Given the description of an element on the screen output the (x, y) to click on. 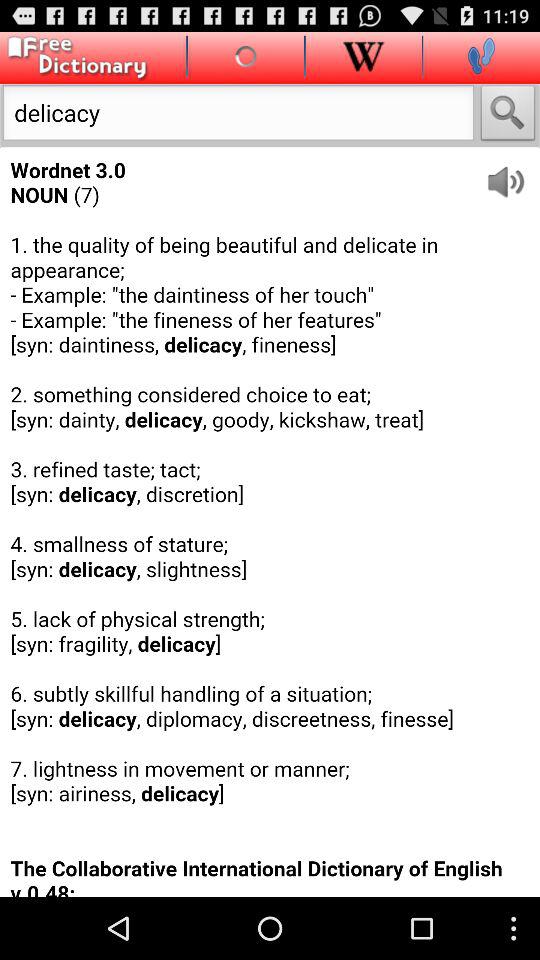
free dictionary (74, 58)
